Given the description of an element on the screen output the (x, y) to click on. 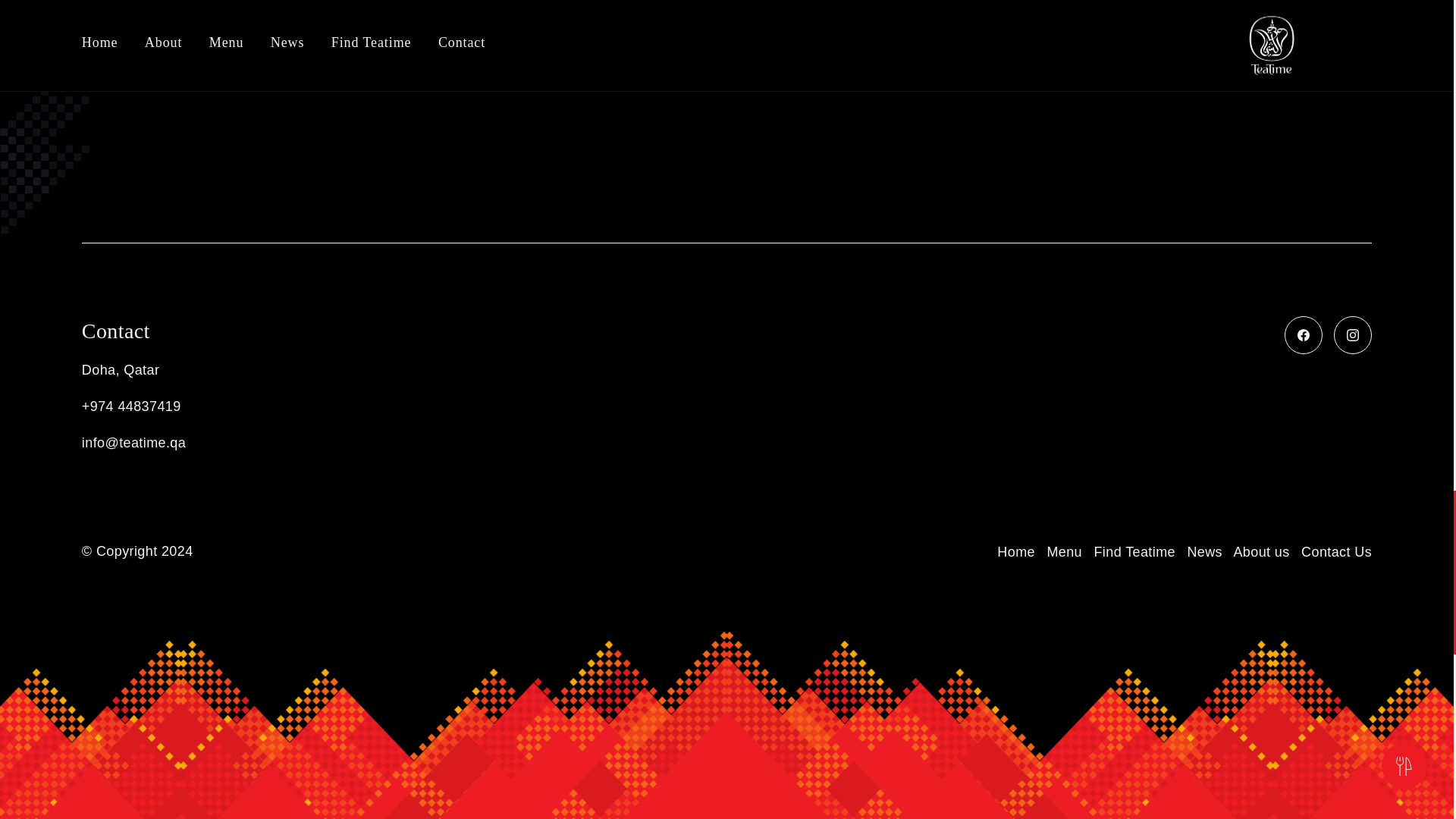
News (1204, 551)
About us (1260, 551)
Doha, Qatar (290, 369)
Menu (1063, 551)
Contact Us (1336, 551)
Find Teatime (1133, 551)
Home (1016, 551)
